Given the description of an element on the screen output the (x, y) to click on. 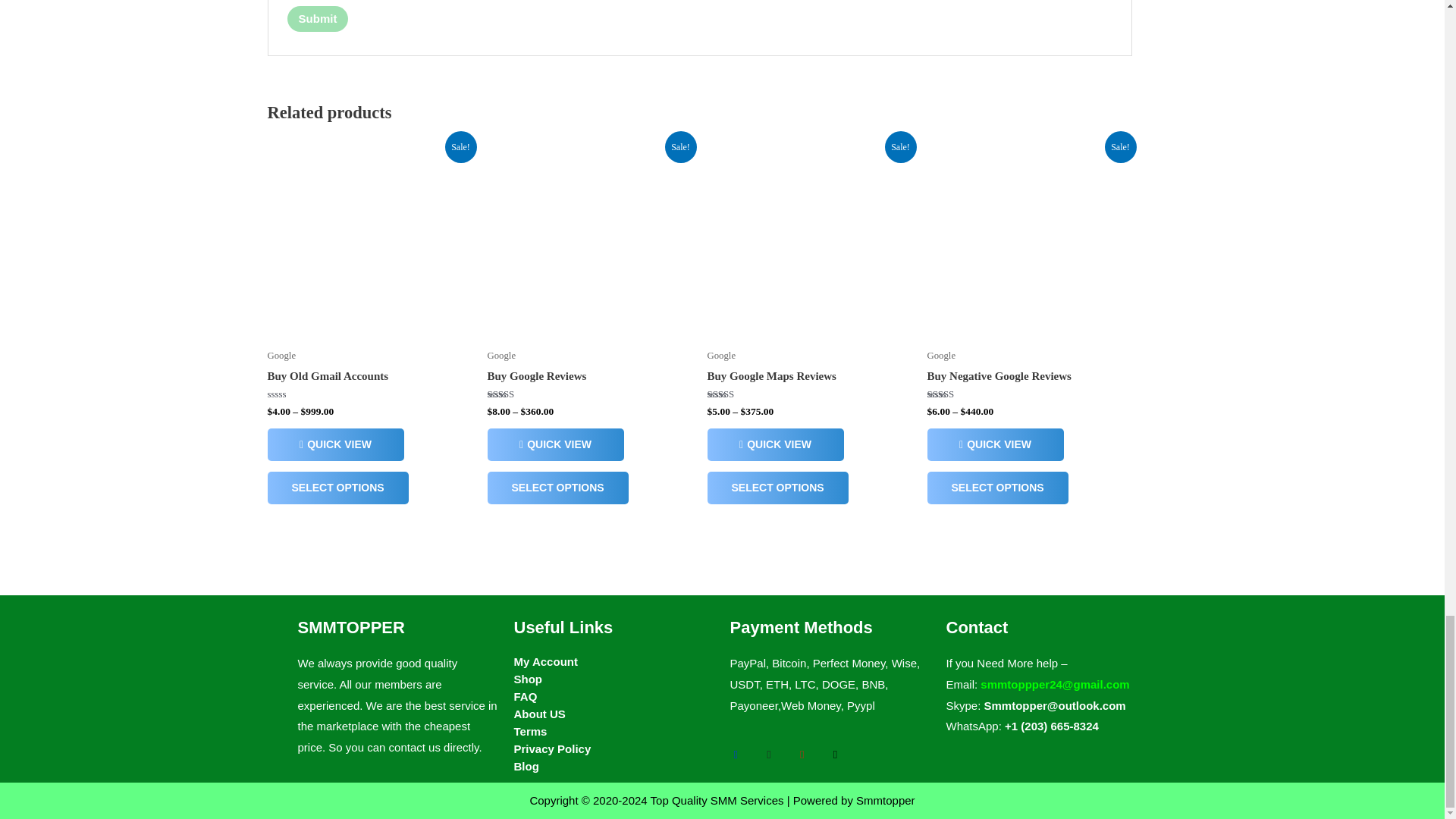
Submit (317, 18)
